Given the description of an element on the screen output the (x, y) to click on. 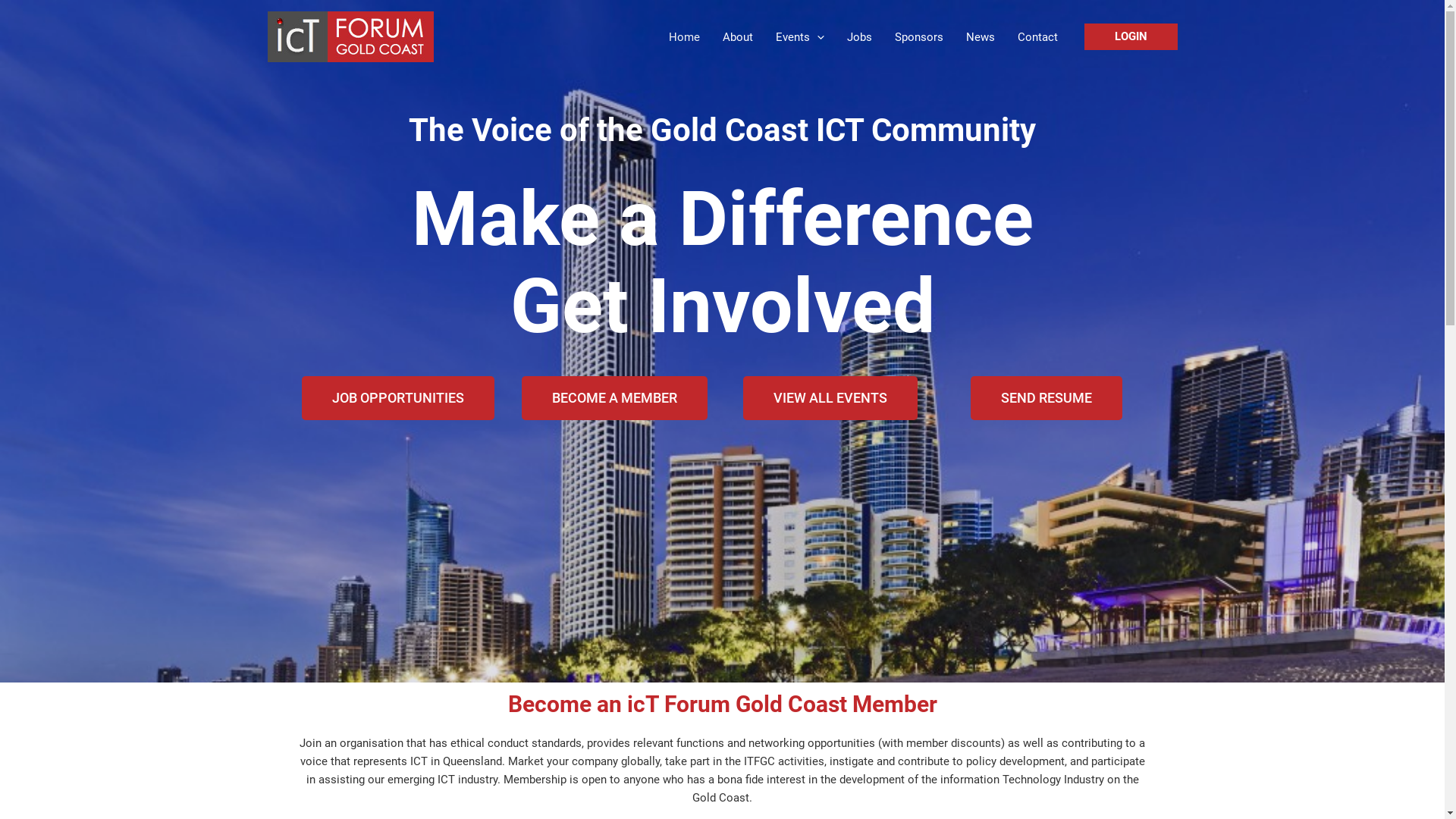
BECOME A MEMBER Element type: text (614, 398)
Contact Element type: text (1036, 36)
Sponsors Element type: text (917, 36)
JOB OPPORTUNITIES Element type: text (397, 398)
Home Element type: text (683, 36)
Jobs Element type: text (859, 36)
SEND RESUME Element type: text (1046, 398)
LOGIN Element type: text (1130, 36)
About Element type: text (737, 36)
Events Element type: text (799, 36)
VIEW ALL EVENTS Element type: text (830, 398)
News Element type: text (979, 36)
